Given the description of an element on the screen output the (x, y) to click on. 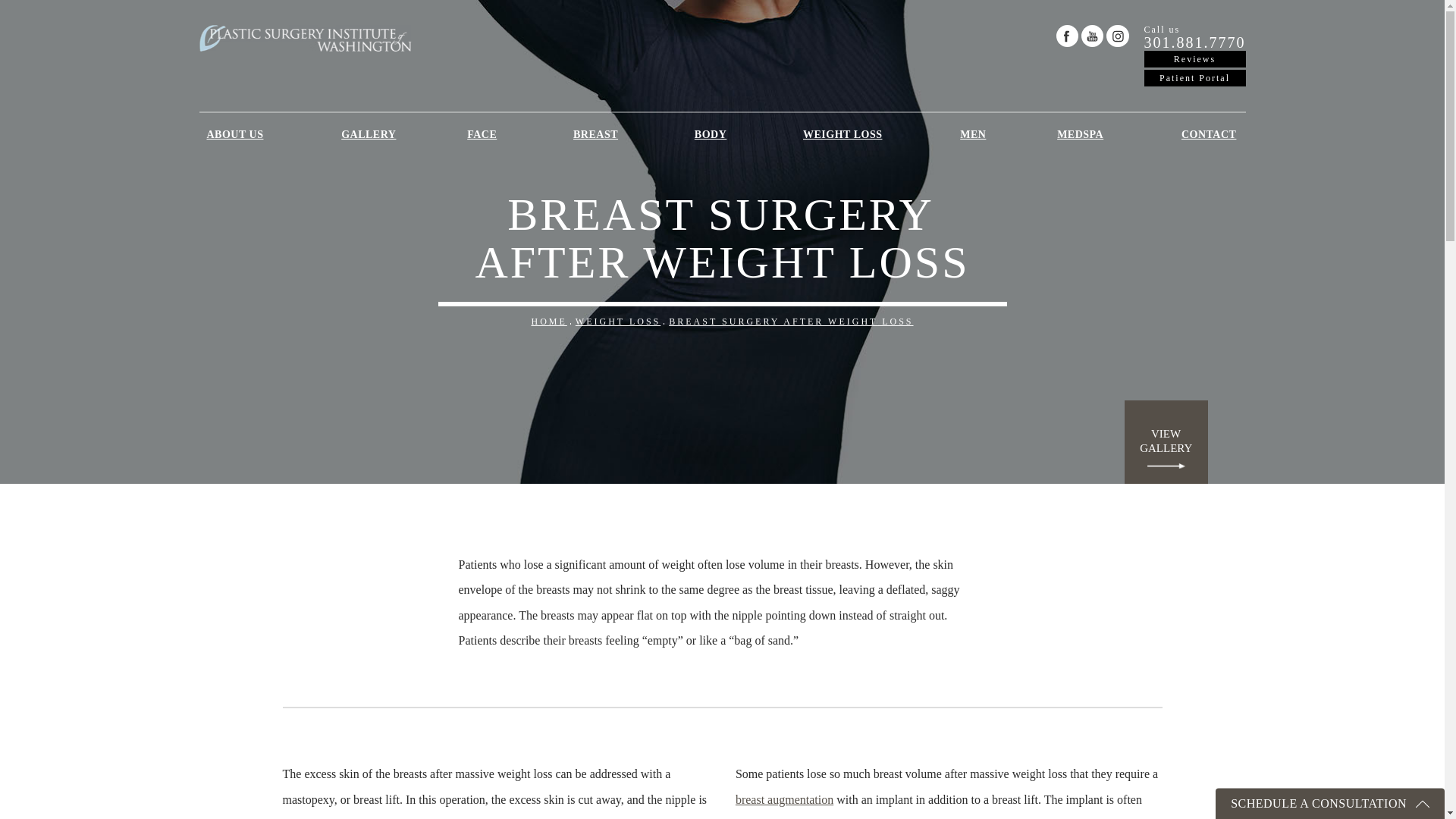
ABOUT US (238, 134)
Reviews (1193, 58)
Patient Portal (1193, 38)
